Given the description of an element on the screen output the (x, y) to click on. 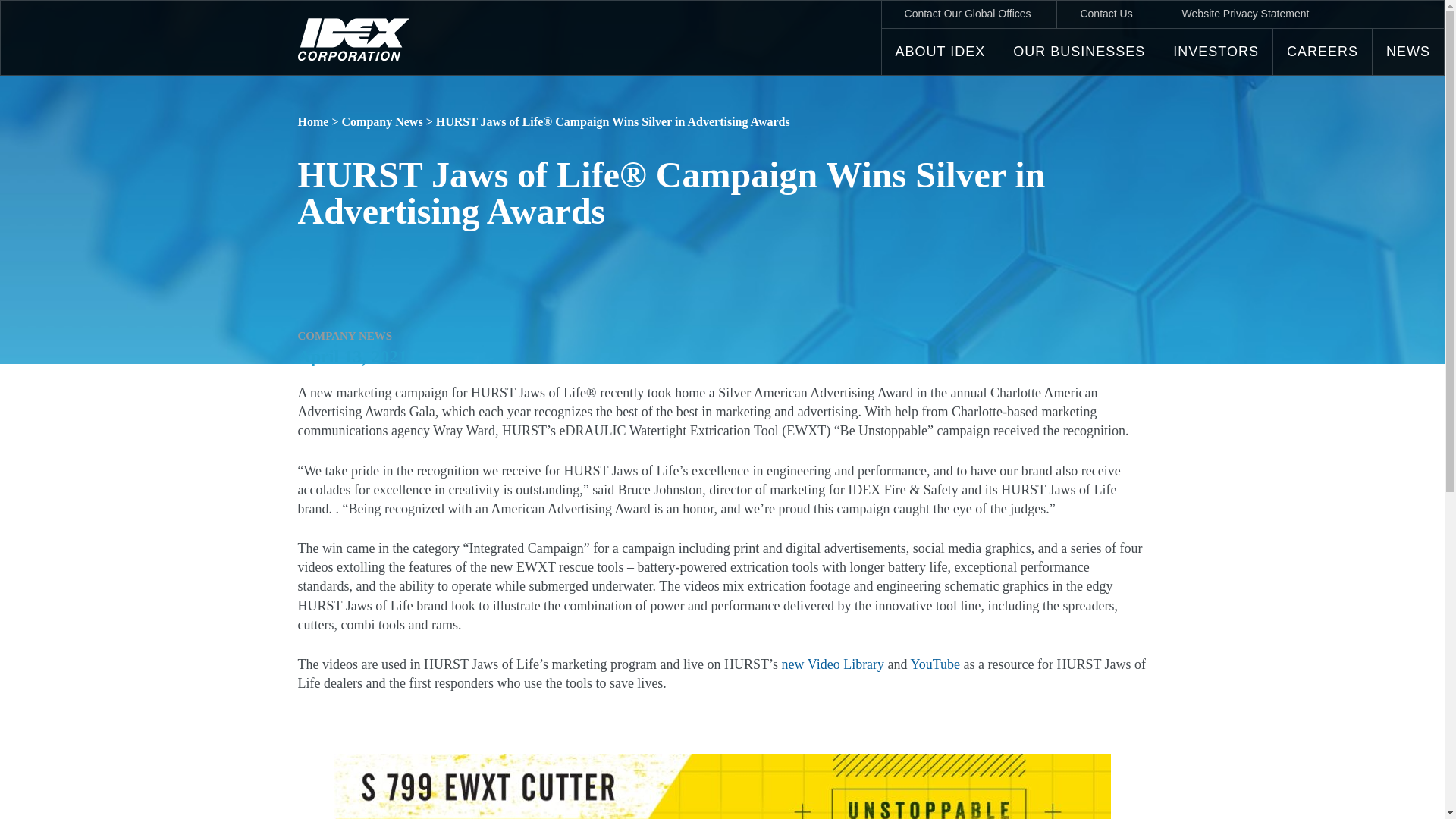
Contact Us (1105, 13)
Go to the Company News Category archives. (381, 121)
Created with Sketch. (353, 39)
Contact Our Global Offices (967, 13)
ABOUT IDEX (939, 51)
Created with Sketch. (353, 56)
Go to IDEX Corporation. (313, 121)
OUR BUSINESSES (1078, 51)
Website Privacy Statement (1245, 13)
INVESTORS (1215, 51)
